Given the description of an element on the screen output the (x, y) to click on. 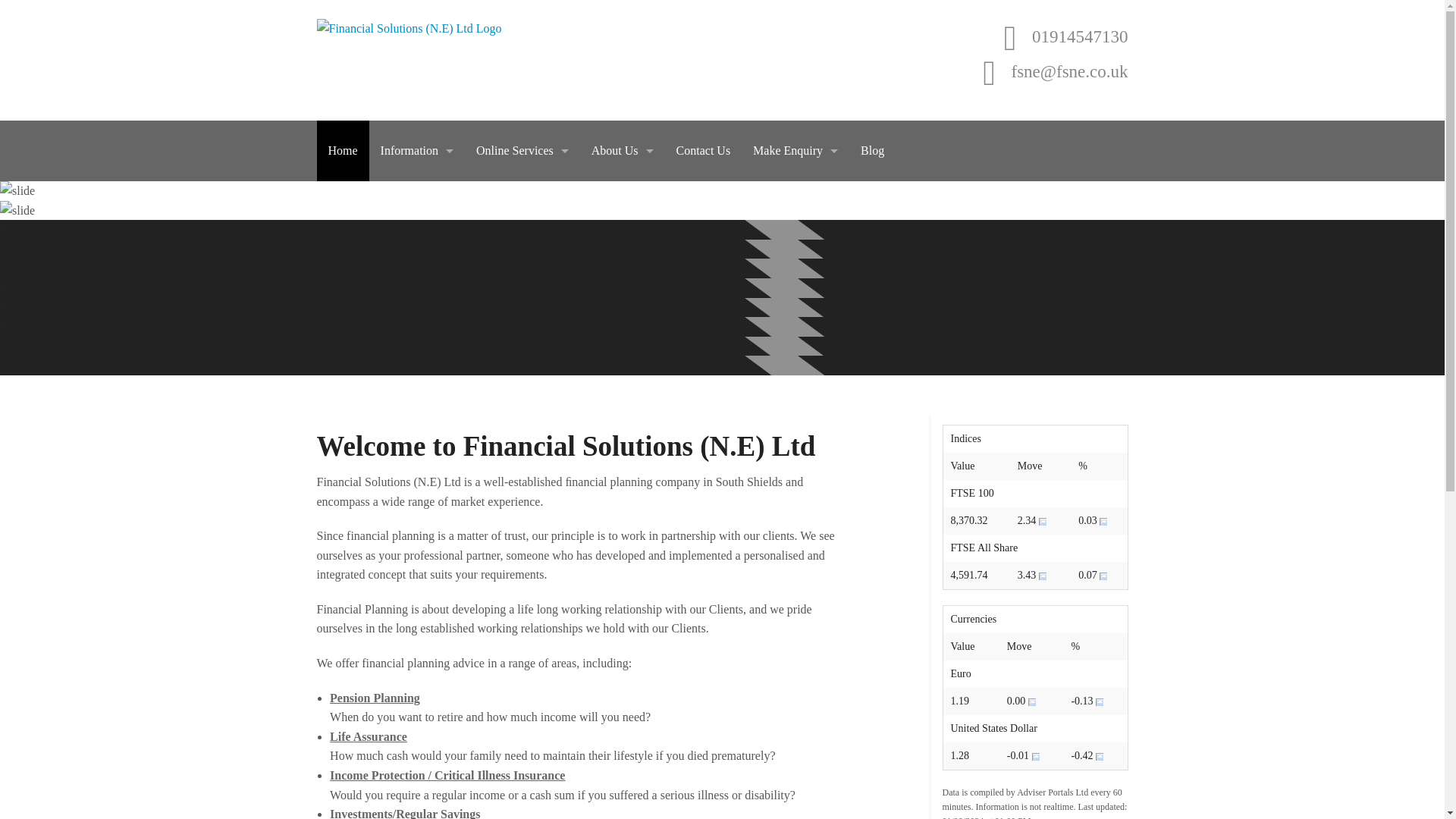
Terms Of Use (622, 266)
Privacy Policy (622, 232)
General (416, 232)
My Portfolio (521, 300)
At Retirement (416, 368)
The Openwork Partnership (622, 300)
General Insurance (416, 437)
Pension Planning (375, 697)
Contact Us (703, 150)
Protection (416, 402)
